Given the description of an element on the screen output the (x, y) to click on. 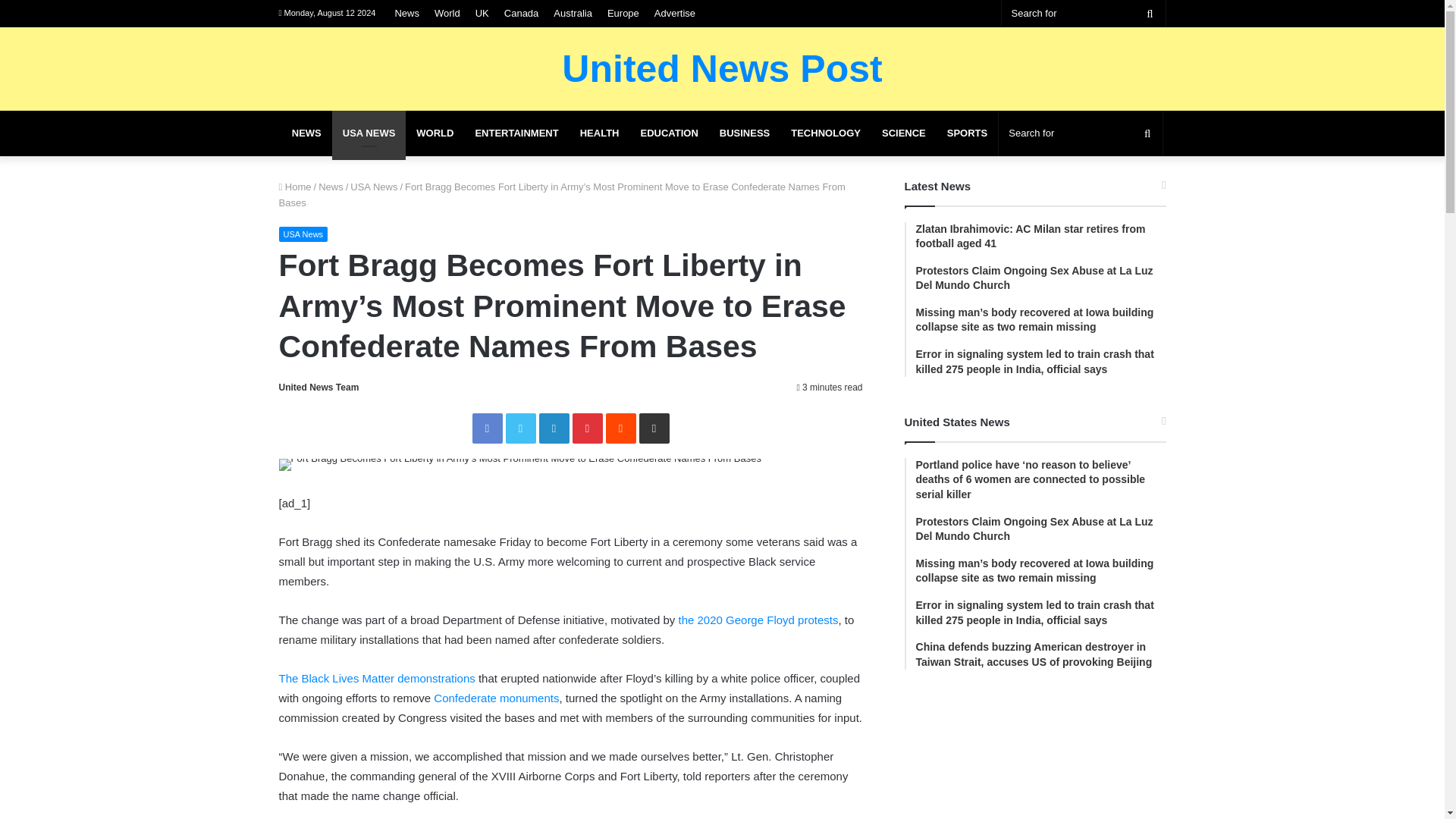
Twitter (520, 428)
WORLD (435, 133)
Confederate monuments (496, 697)
United News Post (722, 68)
Share via Email (653, 428)
The Black Lives Matter demonstrations (377, 677)
SCIENCE (903, 133)
NEWS (306, 133)
USA News (373, 186)
United News Team (319, 387)
